Given the description of an element on the screen output the (x, y) to click on. 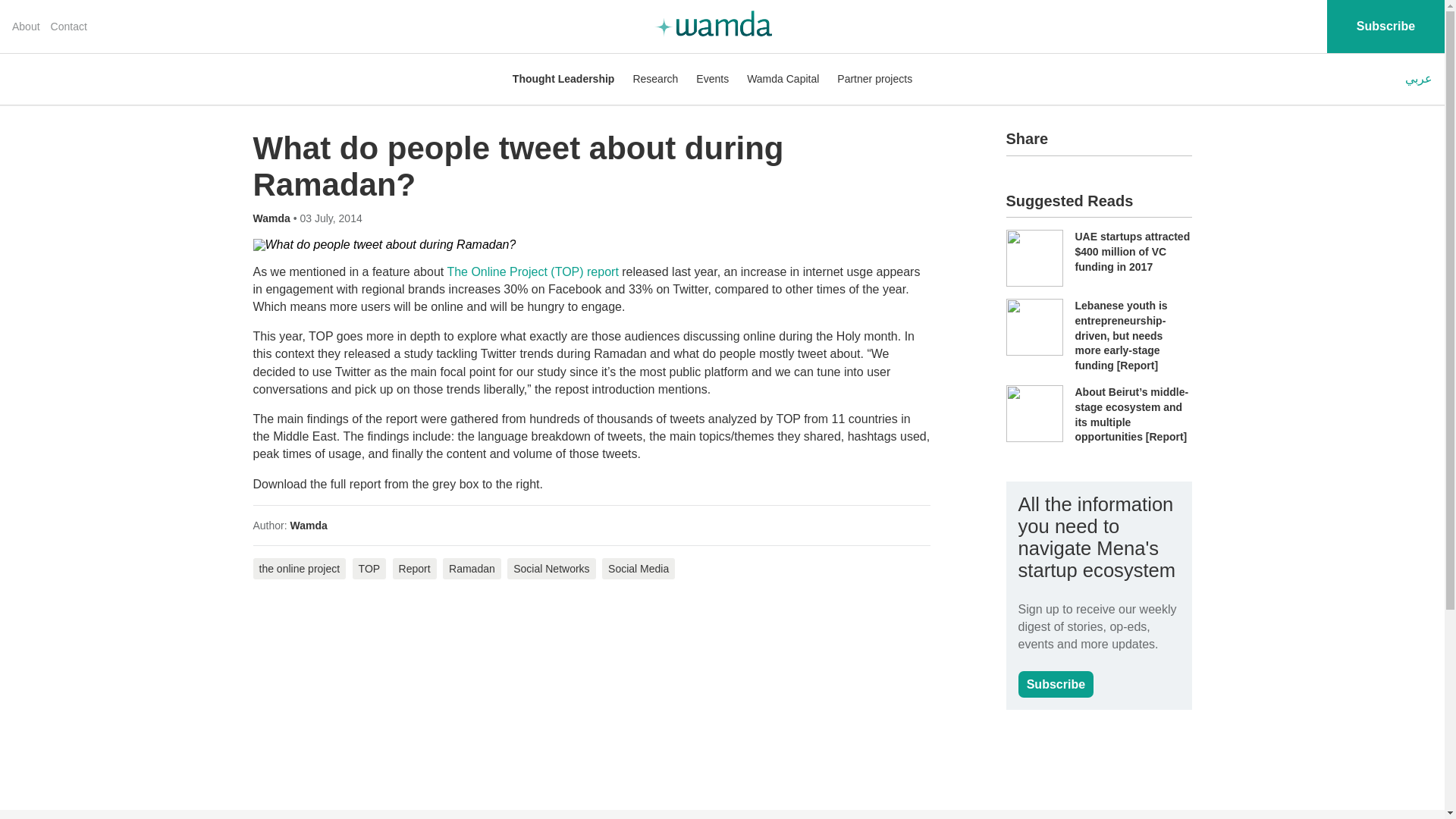
Wamda (308, 525)
Social Networks (550, 568)
Wamda (273, 218)
TOP (369, 568)
Report (414, 568)
Thought Leadership (563, 79)
Partner projects (874, 79)
the online project (299, 568)
Wamda Capital (782, 79)
Ramadan (471, 568)
Research (654, 79)
About (25, 26)
Subscribe (1055, 683)
Contact (68, 26)
Social Media (638, 568)
